Given the description of an element on the screen output the (x, y) to click on. 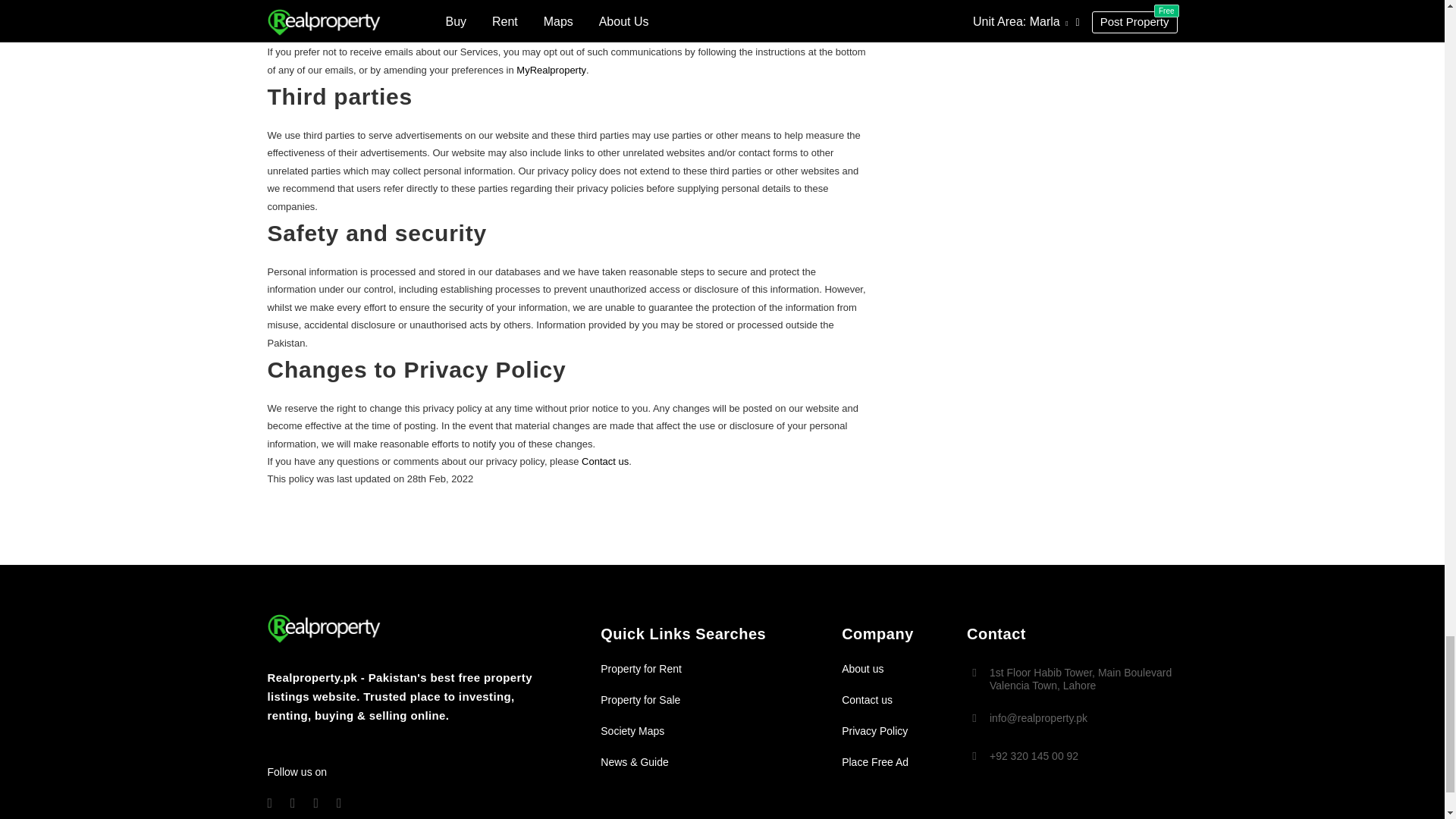
Place Free Ad (874, 761)
MyRealproperty (551, 70)
About us (862, 668)
Privacy Policy (874, 730)
Society Maps (631, 730)
Contact us (604, 460)
Property for Rent (640, 668)
Property for Sale (639, 699)
Contact us (866, 699)
